Given the description of an element on the screen output the (x, y) to click on. 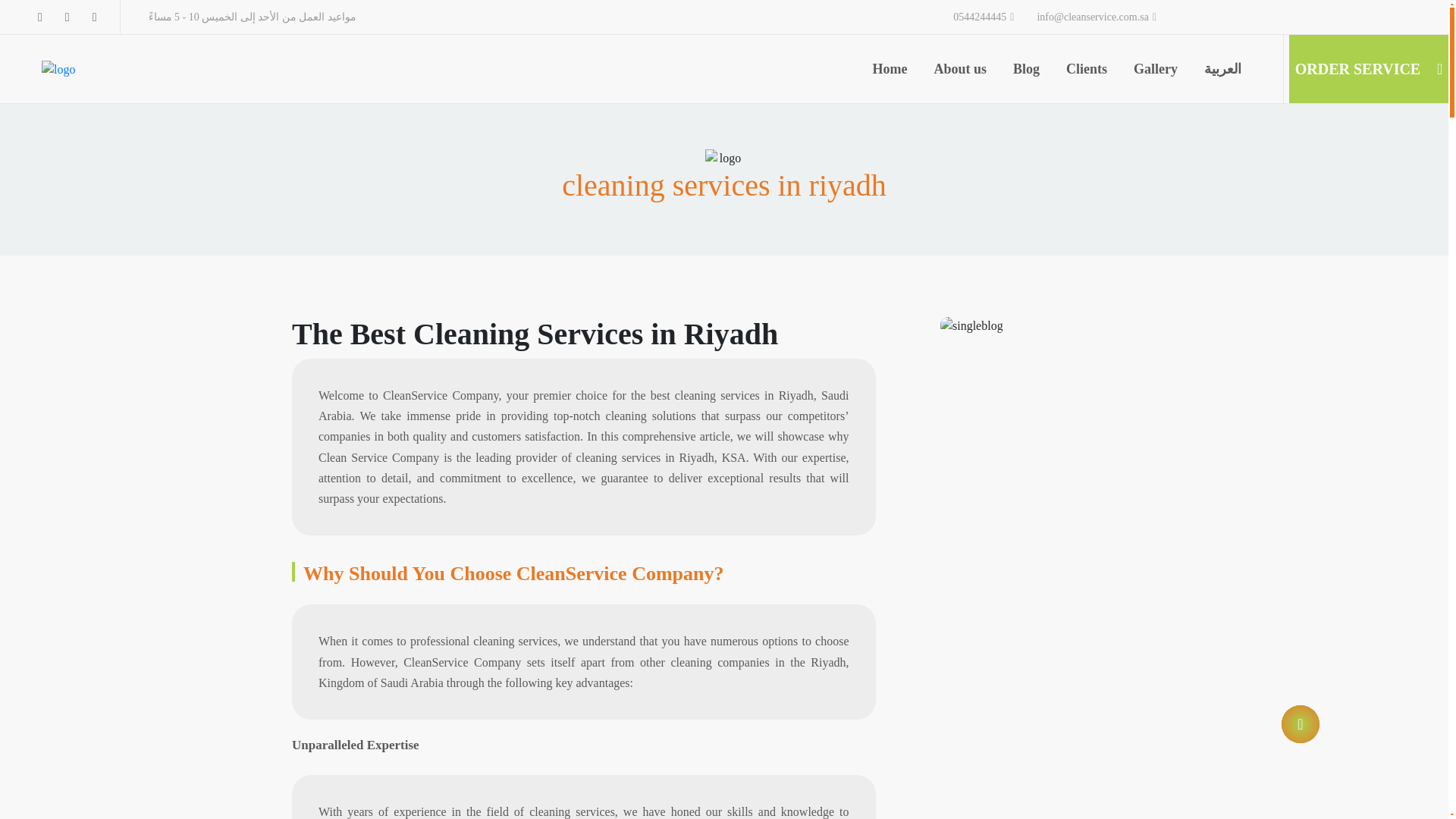
Clients (1085, 91)
Blog (1026, 91)
Gallery (1155, 91)
0544244445 (983, 17)
Home (889, 91)
About us (960, 91)
